Given the description of an element on the screen output the (x, y) to click on. 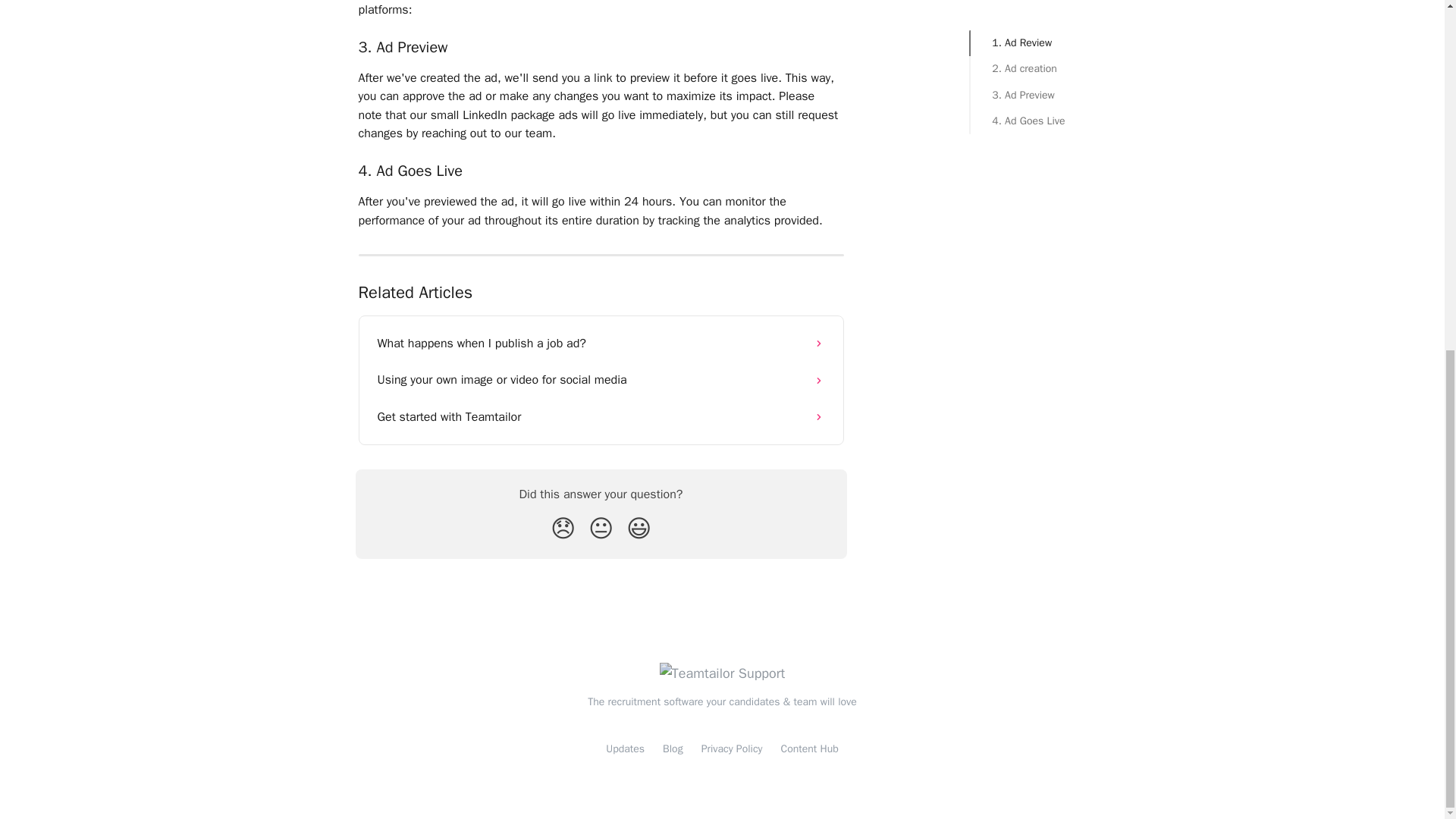
Blog (672, 748)
Privacy Policy (731, 748)
What happens when I publish a job ad? (601, 343)
Using your own image or video for social media (601, 379)
Updates (625, 748)
Get started with Teamtailor (601, 416)
Content Hub (809, 748)
